Given the description of an element on the screen output the (x, y) to click on. 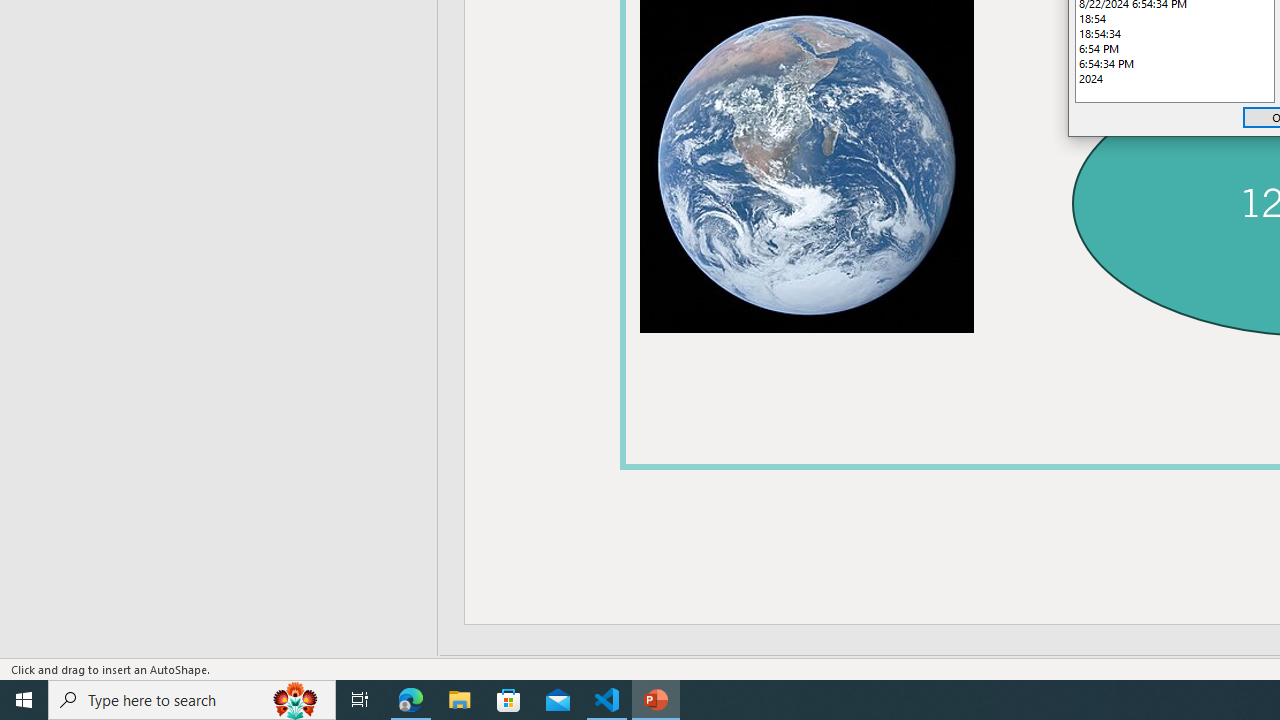
6:54 PM (1174, 48)
18:54:34 (1174, 33)
18:54 (1174, 17)
2024 (1174, 78)
6:54:34 PM (1174, 63)
